Given the description of an element on the screen output the (x, y) to click on. 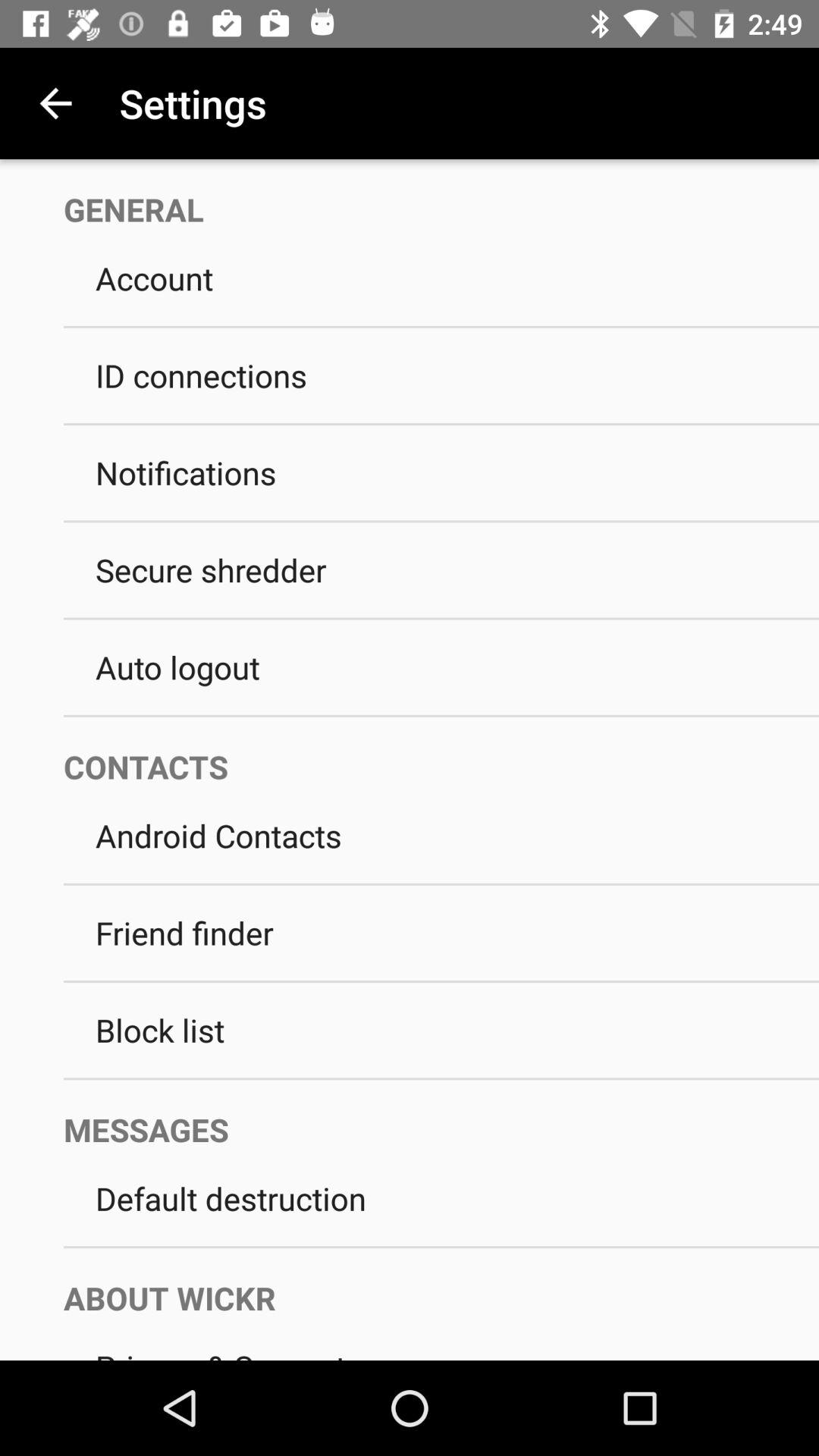
tap item above general (55, 103)
